Given the description of an element on the screen output the (x, y) to click on. 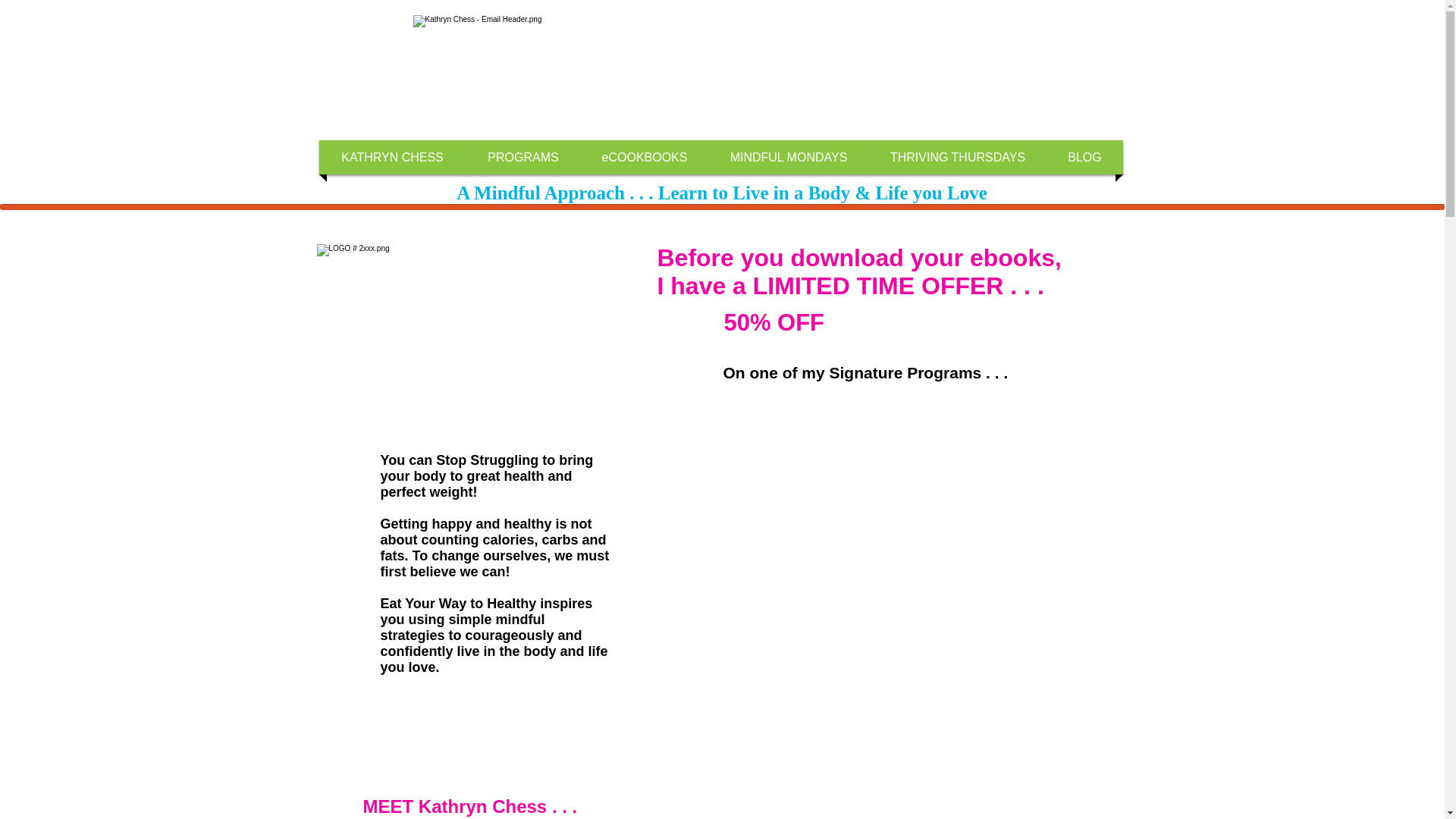
MINDFUL MONDAYS (788, 157)
KATHRYN CHESS (393, 157)
THRIVING THURSDAYS (957, 157)
PROGRAMS (523, 157)
eCOOKBOOKS (643, 157)
BLOG (1085, 157)
